Given the description of an element on the screen output the (x, y) to click on. 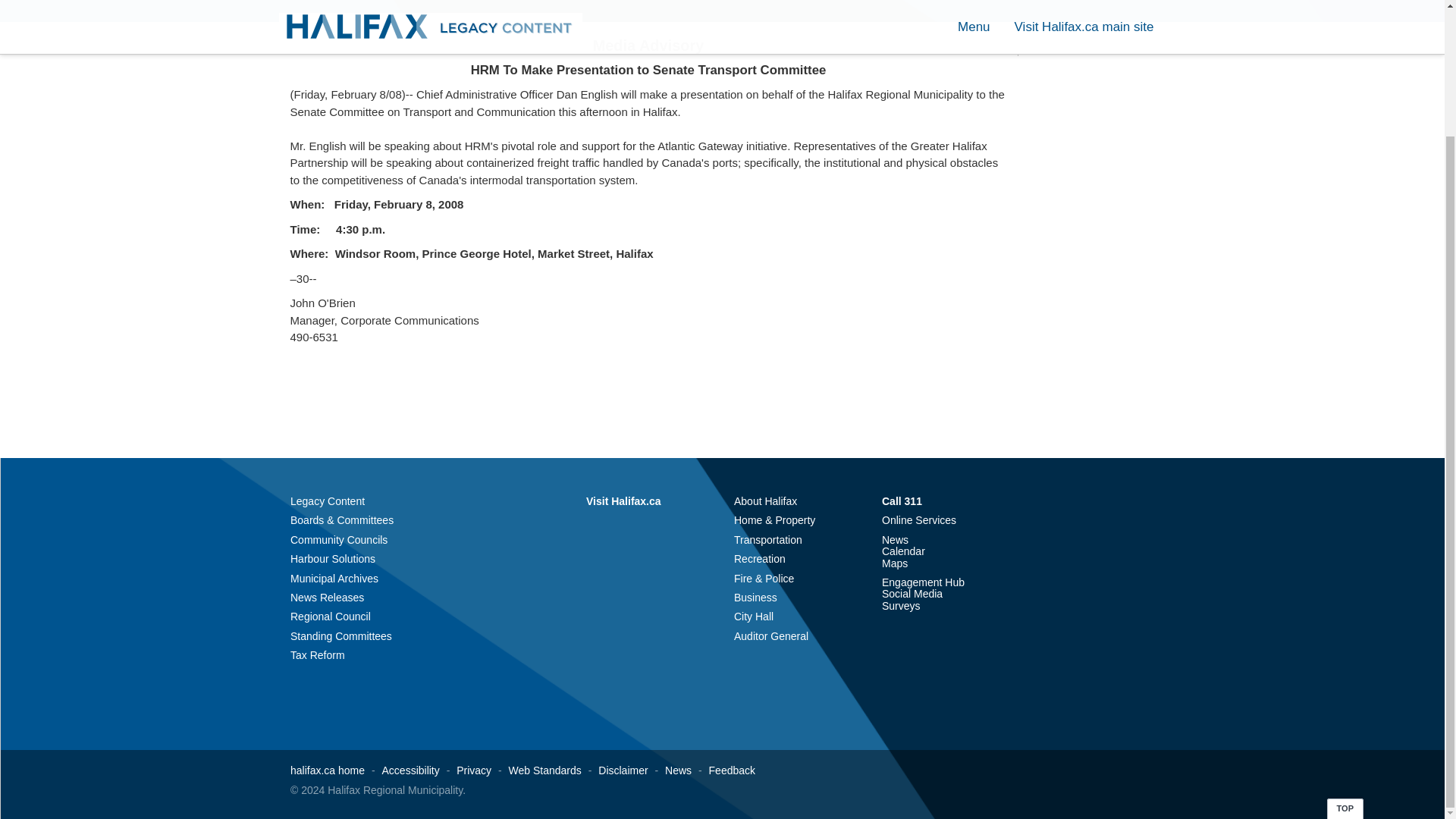
Transportation (767, 539)
Auditor General (770, 635)
Recreation (759, 558)
News Releases (326, 597)
Community Councils (338, 539)
City Hall (753, 616)
Standing Committees (340, 635)
Maps (894, 563)
Visit Halifax.ca (623, 500)
Call 311 (901, 500)
